Given the description of an element on the screen output the (x, y) to click on. 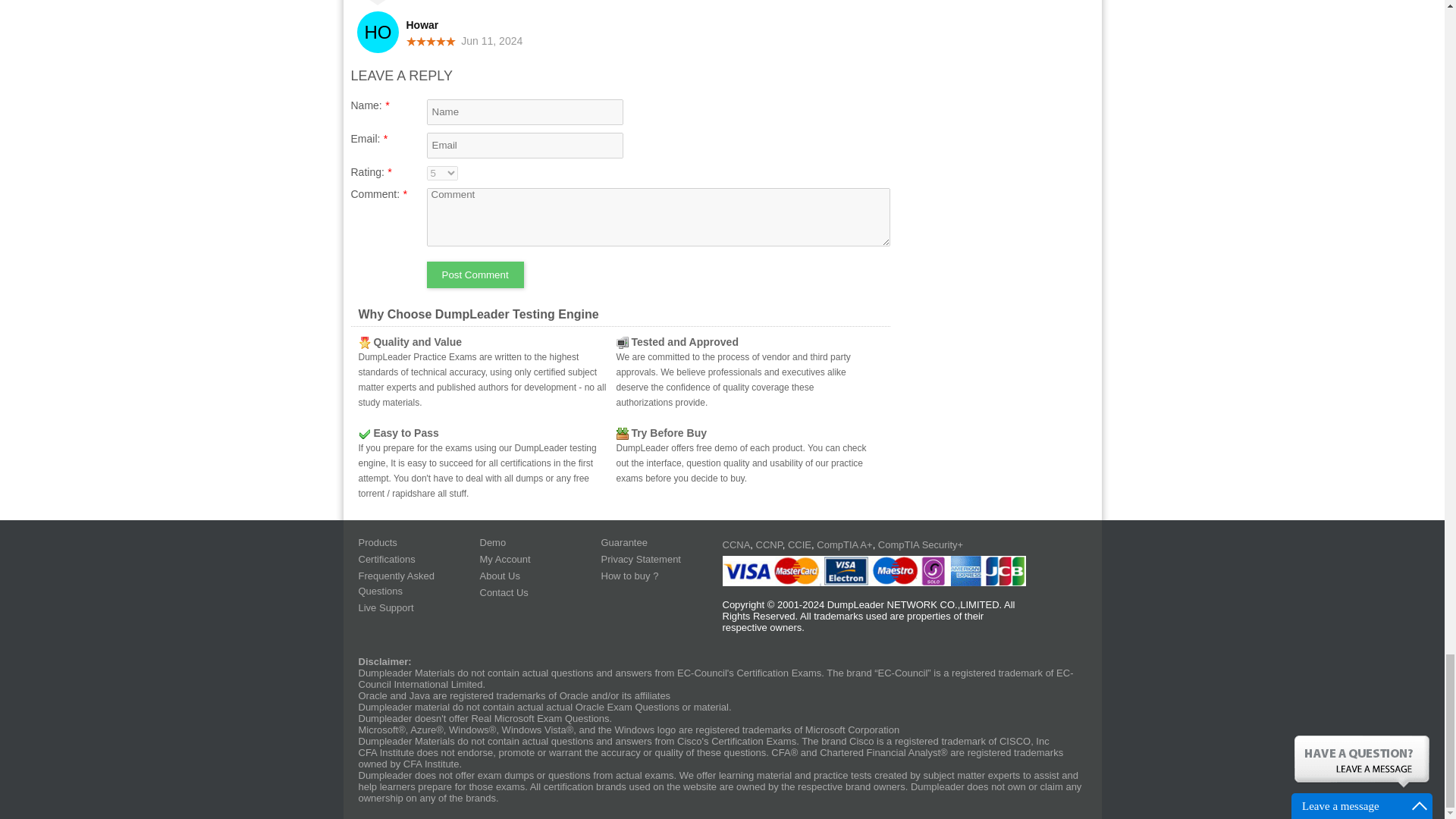
Post Comment (474, 274)
